Given the description of an element on the screen output the (x, y) to click on. 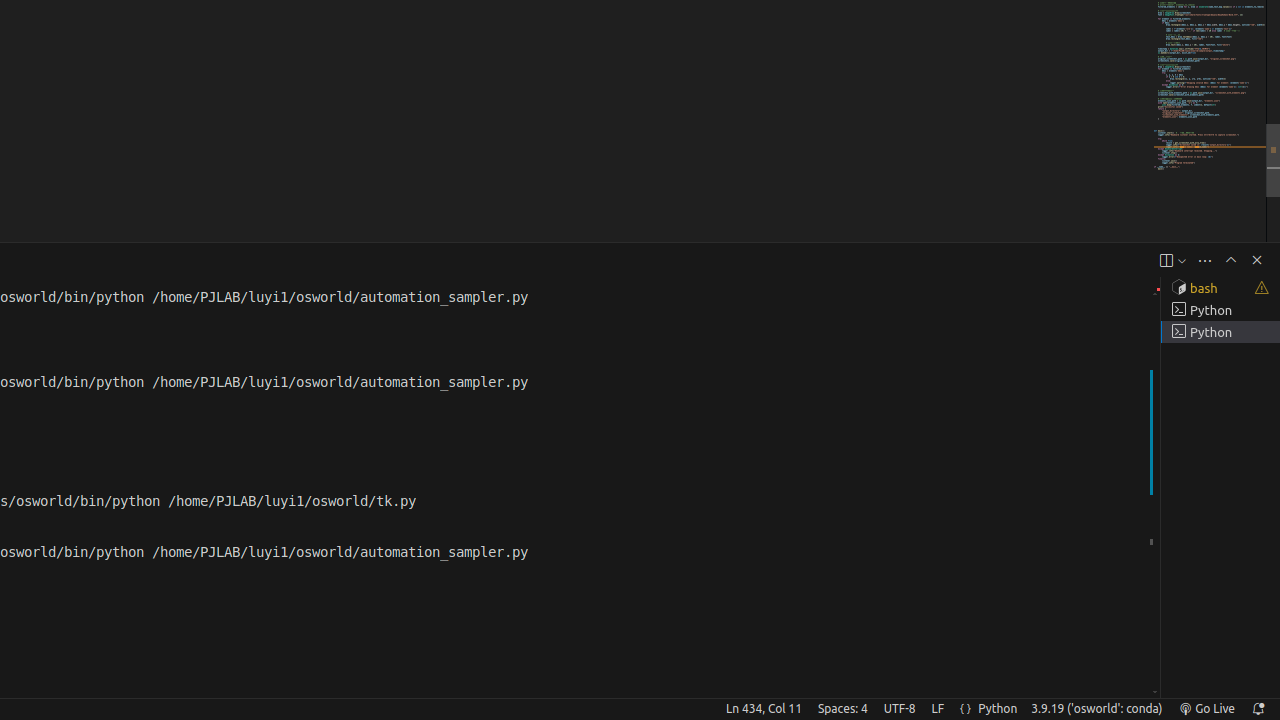
Spaces: 4 Element type: push-button (842, 709)
Terminal 1 bash Element type: list-item (1220, 288)
Terminal 5 Python Element type: list-item (1220, 332)
Terminal 2 Python Element type: list-item (1220, 310)
broadcast Go Live, Click to run live server Element type: push-button (1206, 709)
